Given the description of an element on the screen output the (x, y) to click on. 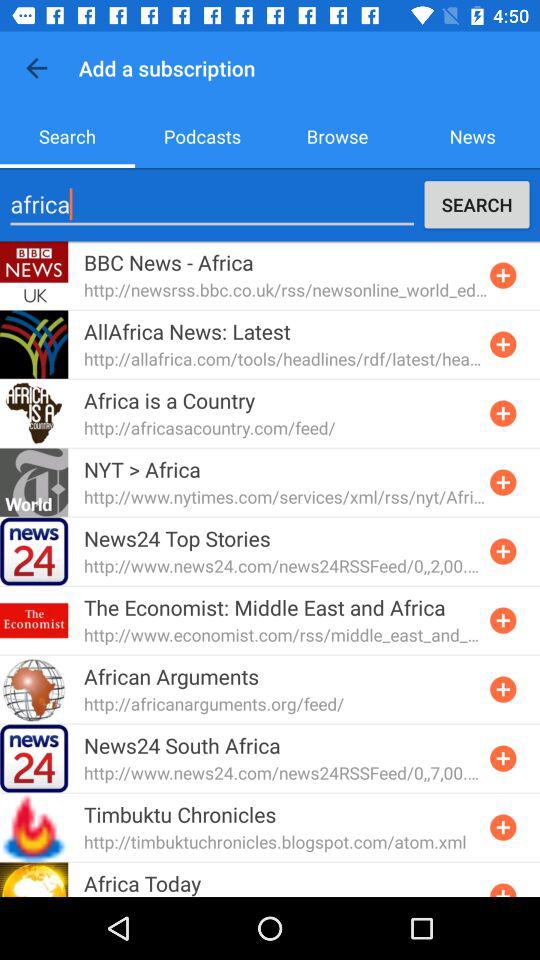
add subscription (503, 888)
